Given the description of an element on the screen output the (x, y) to click on. 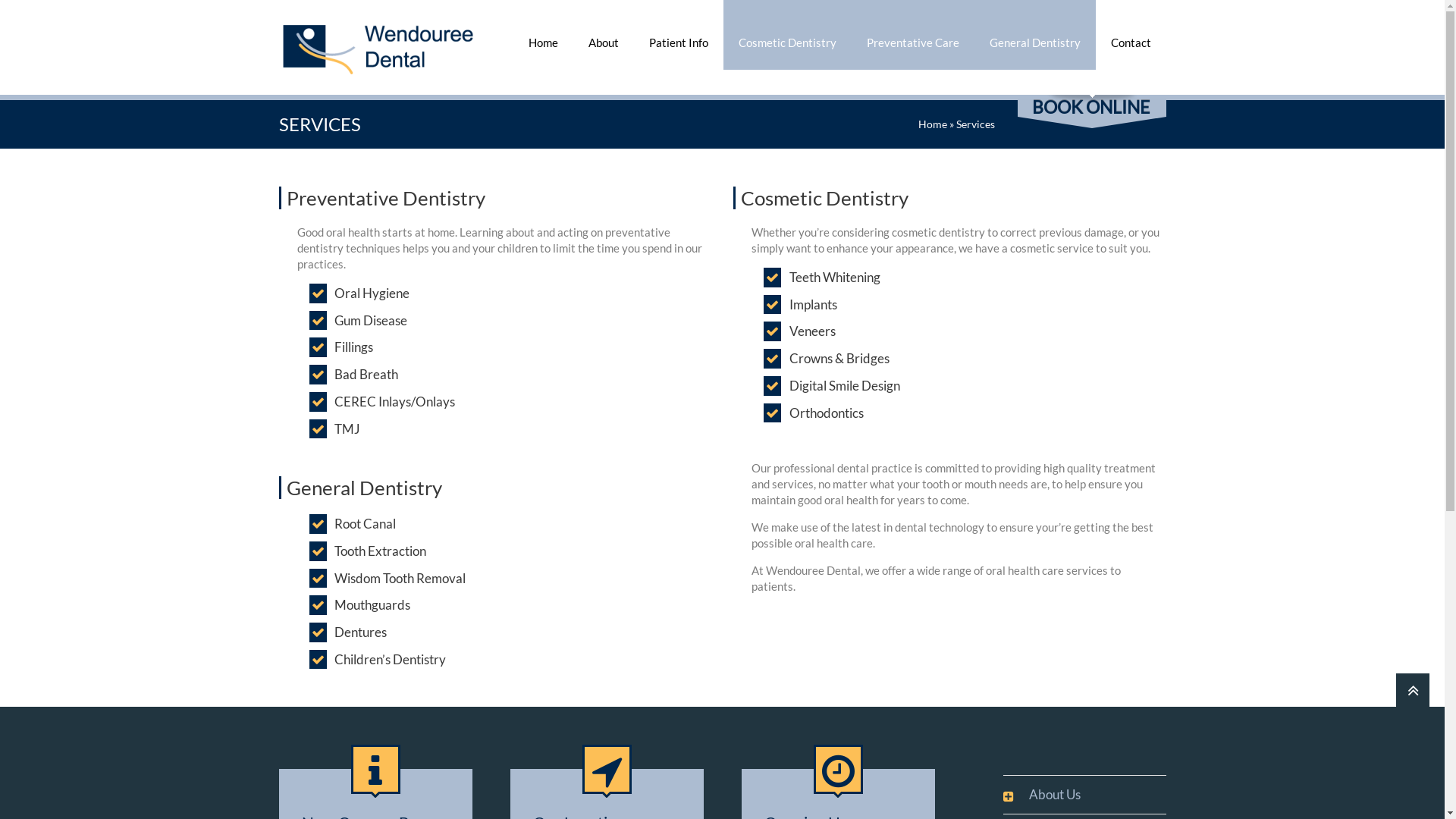
Oral Hygiene Element type: text (371, 293)
Preventative Care Element type: text (911, 34)
Bad Breath Element type: text (366, 374)
Digital Smile Design Element type: text (844, 385)
Veneers Element type: text (812, 331)
Gum Disease Element type: text (370, 320)
Home Element type: text (931, 123)
TMJ Element type: text (347, 429)
Patient Info Element type: text (678, 34)
Tooth Extraction Element type: text (380, 551)
About Us Element type: text (1046, 794)
About Element type: text (603, 34)
Teeth Whitening Element type: text (834, 277)
Mouthguards Element type: text (372, 605)
Wisdom Tooth Removal Element type: text (399, 578)
Orthodontics Element type: text (826, 413)
Cosmetic Dentistry Element type: text (787, 34)
Crowns & Bridges Element type: text (839, 358)
Contact Element type: text (1130, 34)
Fillings Element type: text (353, 347)
CEREC Inlays/Onlays Element type: text (394, 401)
Implants Element type: text (813, 304)
General Dentistry Element type: text (1034, 34)
Home Element type: text (542, 34)
Root Canal Element type: text (364, 523)
Dentures Element type: text (360, 632)
